Given the description of an element on the screen output the (x, y) to click on. 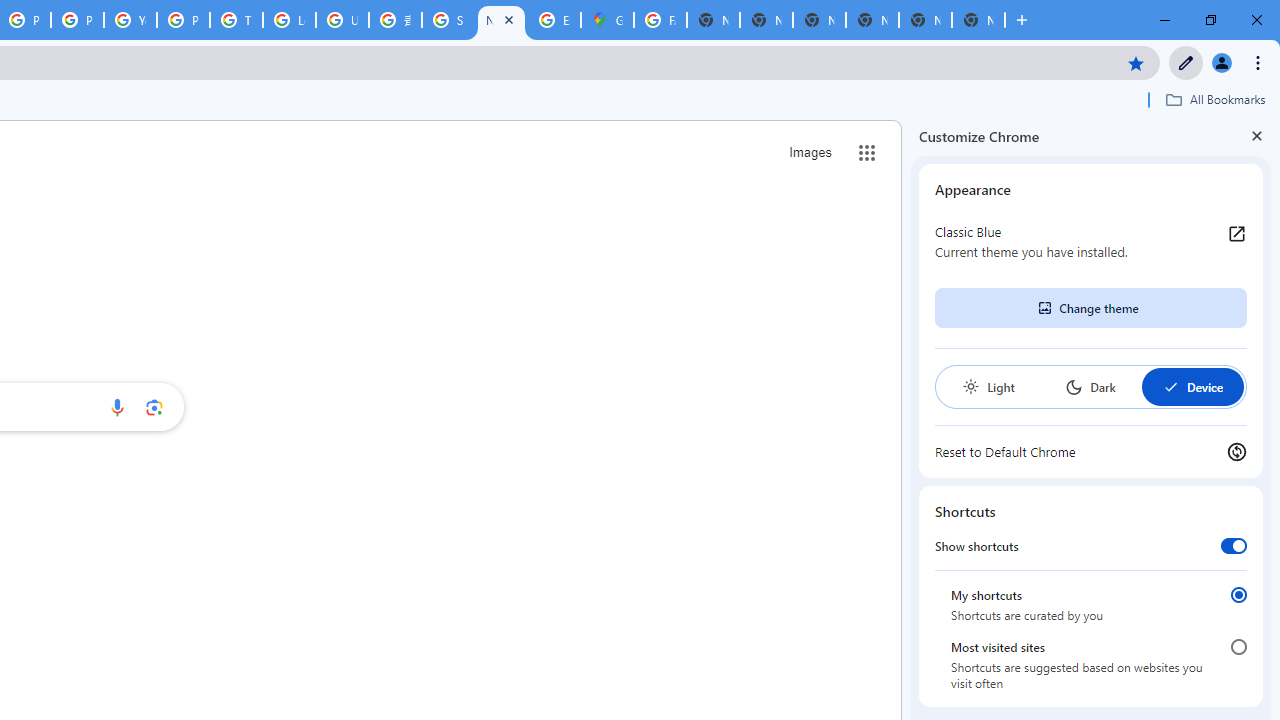
Most visited sites (1238, 647)
Reset to Default Chrome (1091, 452)
YouTube (130, 20)
New Tab (501, 20)
Google Maps (607, 20)
